Given the description of an element on the screen output the (x, y) to click on. 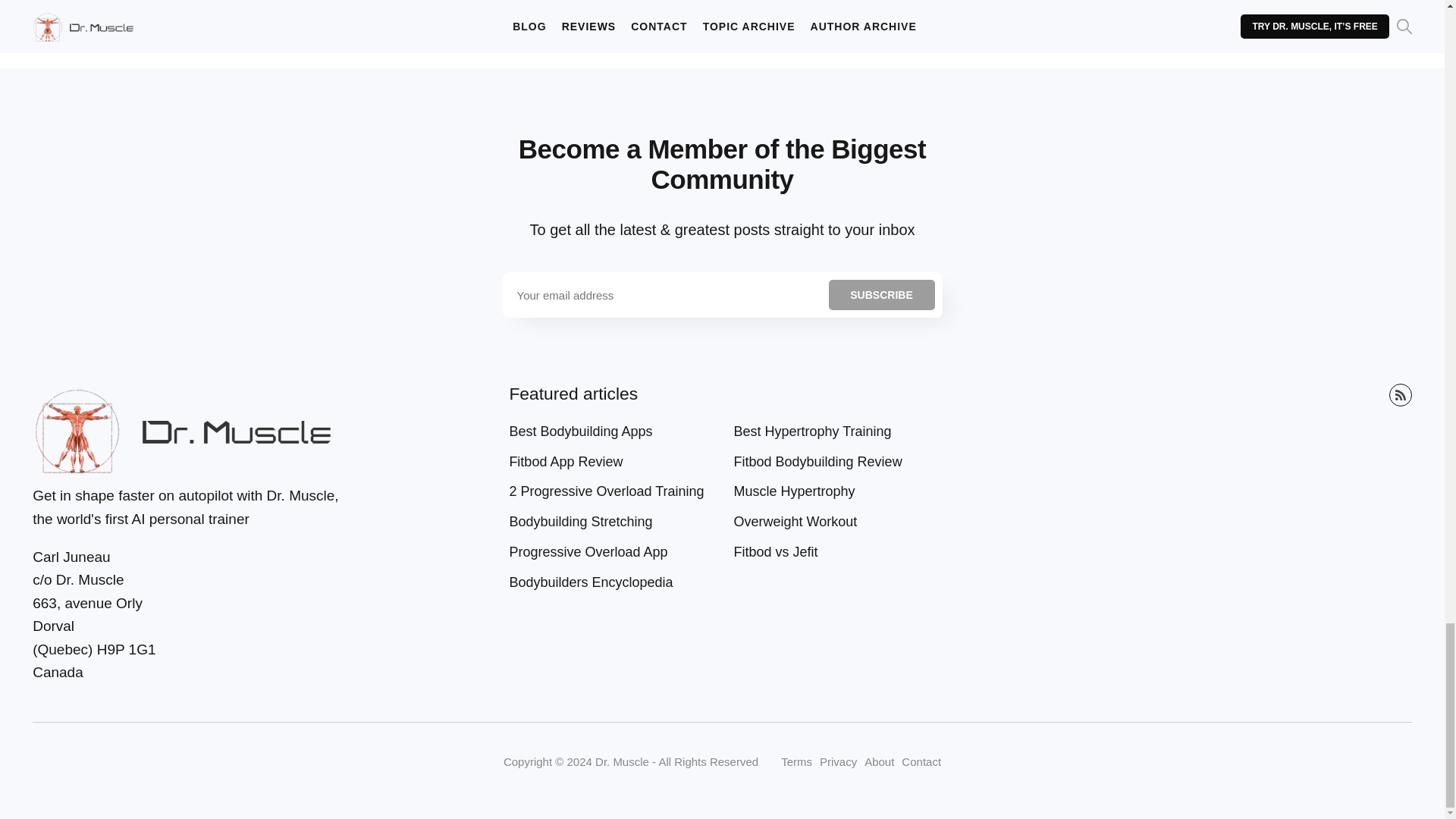
Best Bodybuilding Apps (583, 431)
Progressive Overload App (591, 552)
RSS (1400, 395)
Contact (920, 761)
SUBSCRIBE (881, 295)
Privacy (838, 761)
Fitbod vs Jefit (779, 552)
2 Progressive Overload Training (609, 491)
Terms (796, 761)
About (878, 761)
Fitbod App Review (568, 462)
Best Hypertrophy Training (815, 431)
Bodybuilding Stretching (583, 521)
Overweight Workout (798, 521)
Muscle Hypertrophy (797, 491)
